Given the description of an element on the screen output the (x, y) to click on. 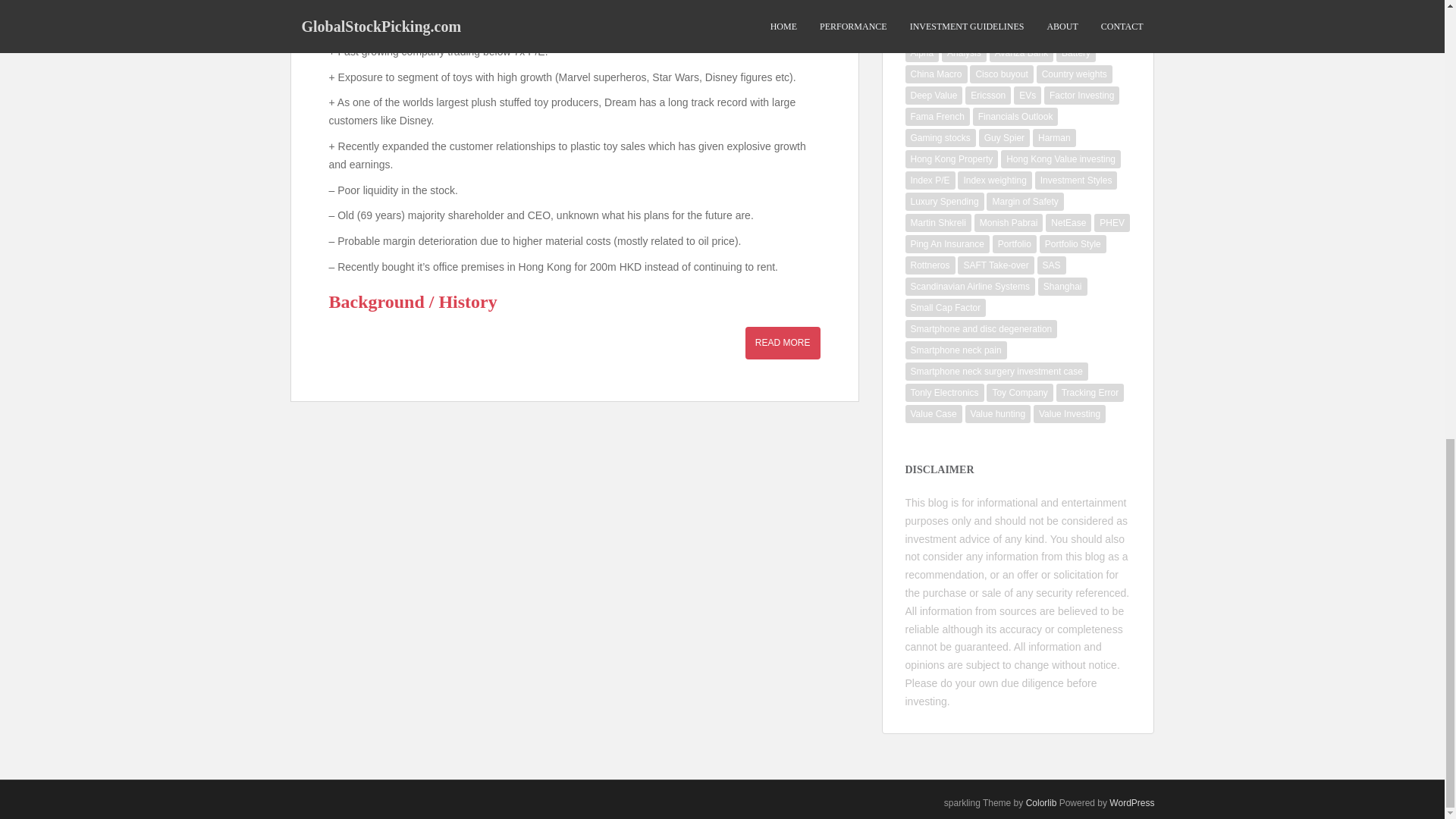
Analysis (964, 53)
READ MORE (783, 342)
Alpha (922, 53)
Battery (1076, 53)
Factor Investing (1081, 95)
Country weights (1074, 74)
Cisco buyout (1000, 74)
China Macro (936, 74)
EVs (1027, 95)
Deep Value (933, 95)
Ericsson (987, 95)
Fama French (937, 116)
Avanza Bank (1022, 53)
